Given the description of an element on the screen output the (x, y) to click on. 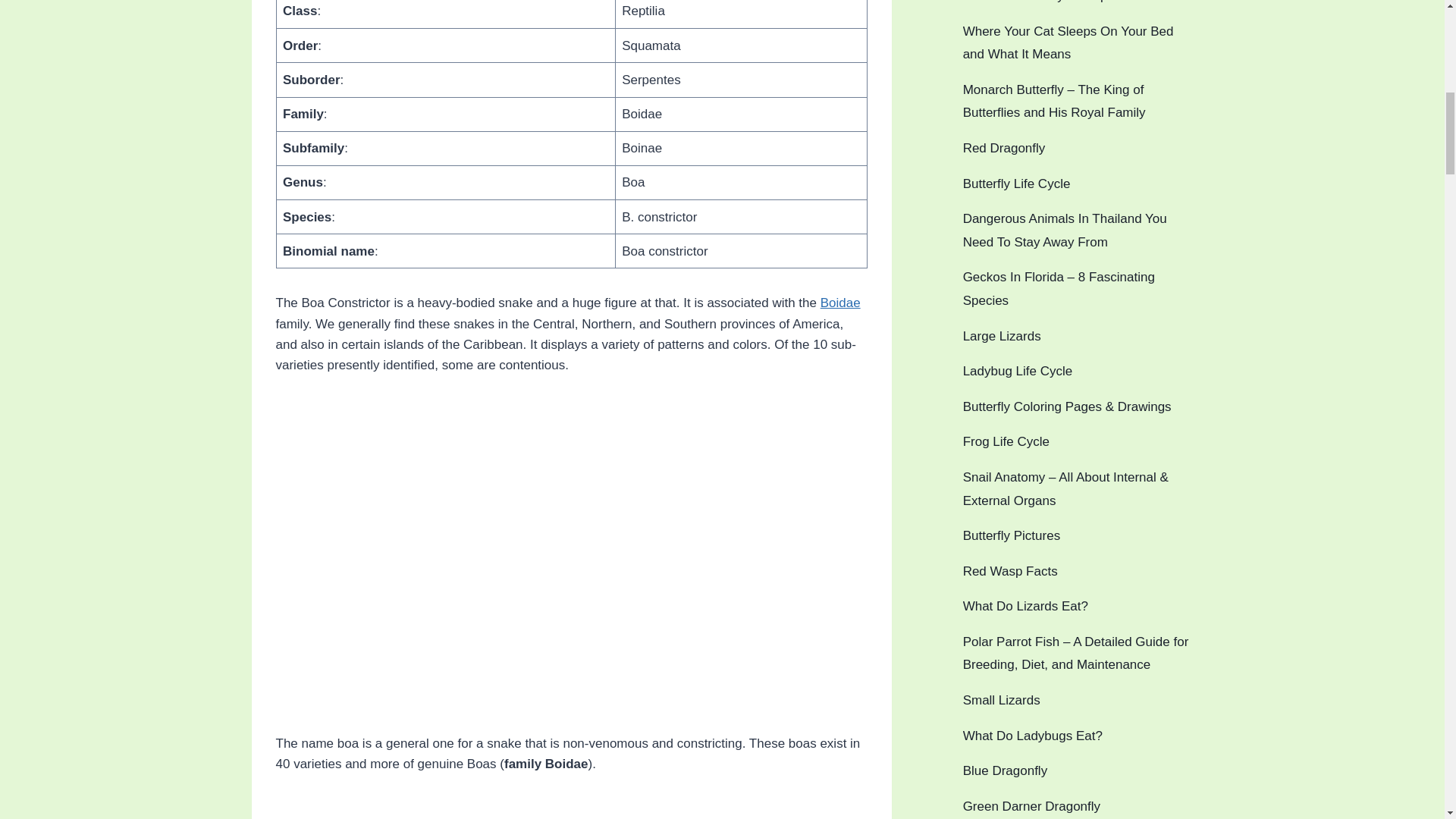
Boidae (840, 302)
